Given the description of an element on the screen output the (x, y) to click on. 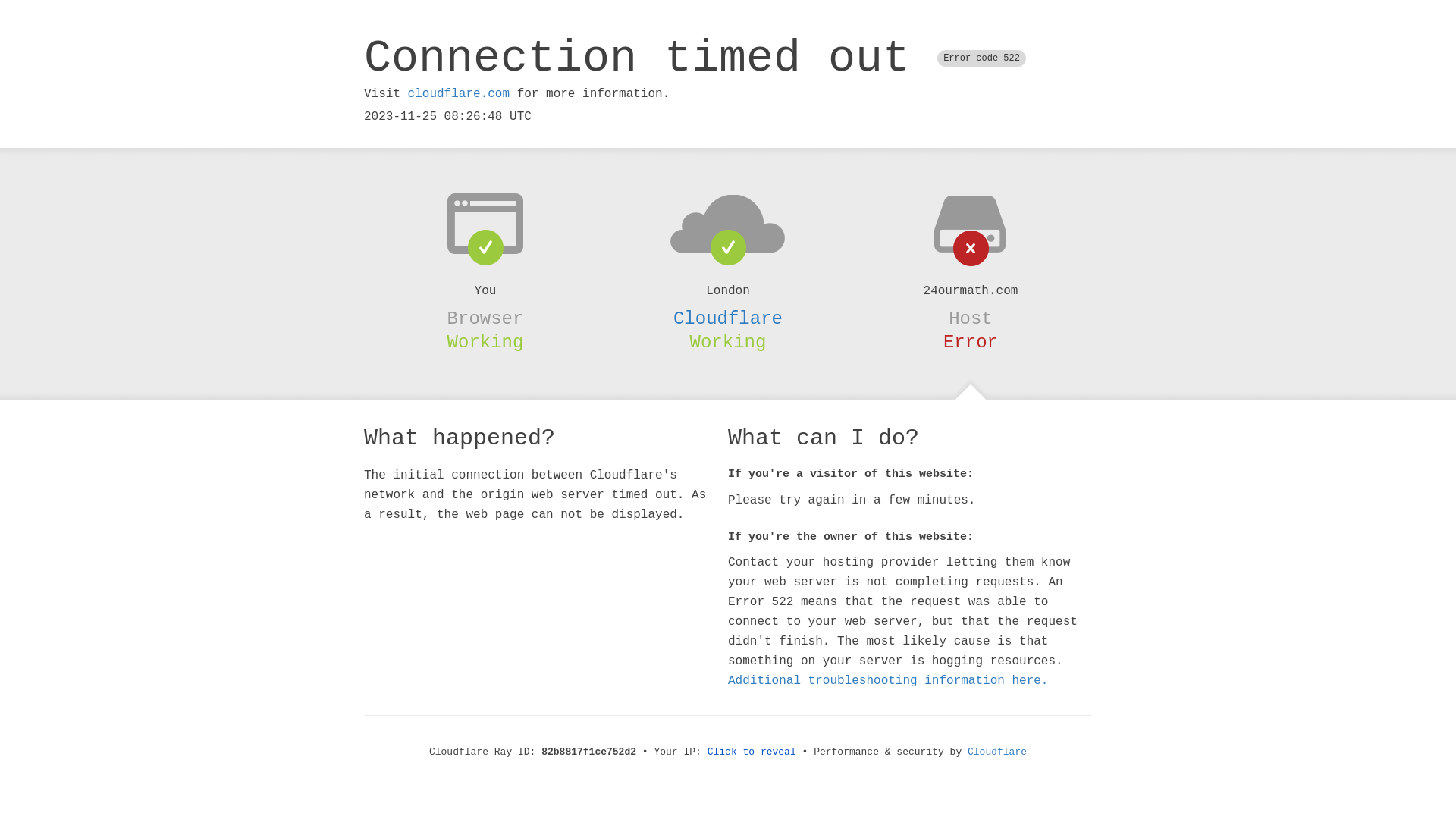
Additional troubleshooting information here. Element type: text (888, 680)
Cloudflare Element type: text (996, 751)
Click to reveal Element type: text (751, 751)
Cloudflare Element type: text (727, 318)
cloudflare.com Element type: text (458, 93)
